Given the description of an element on the screen output the (x, y) to click on. 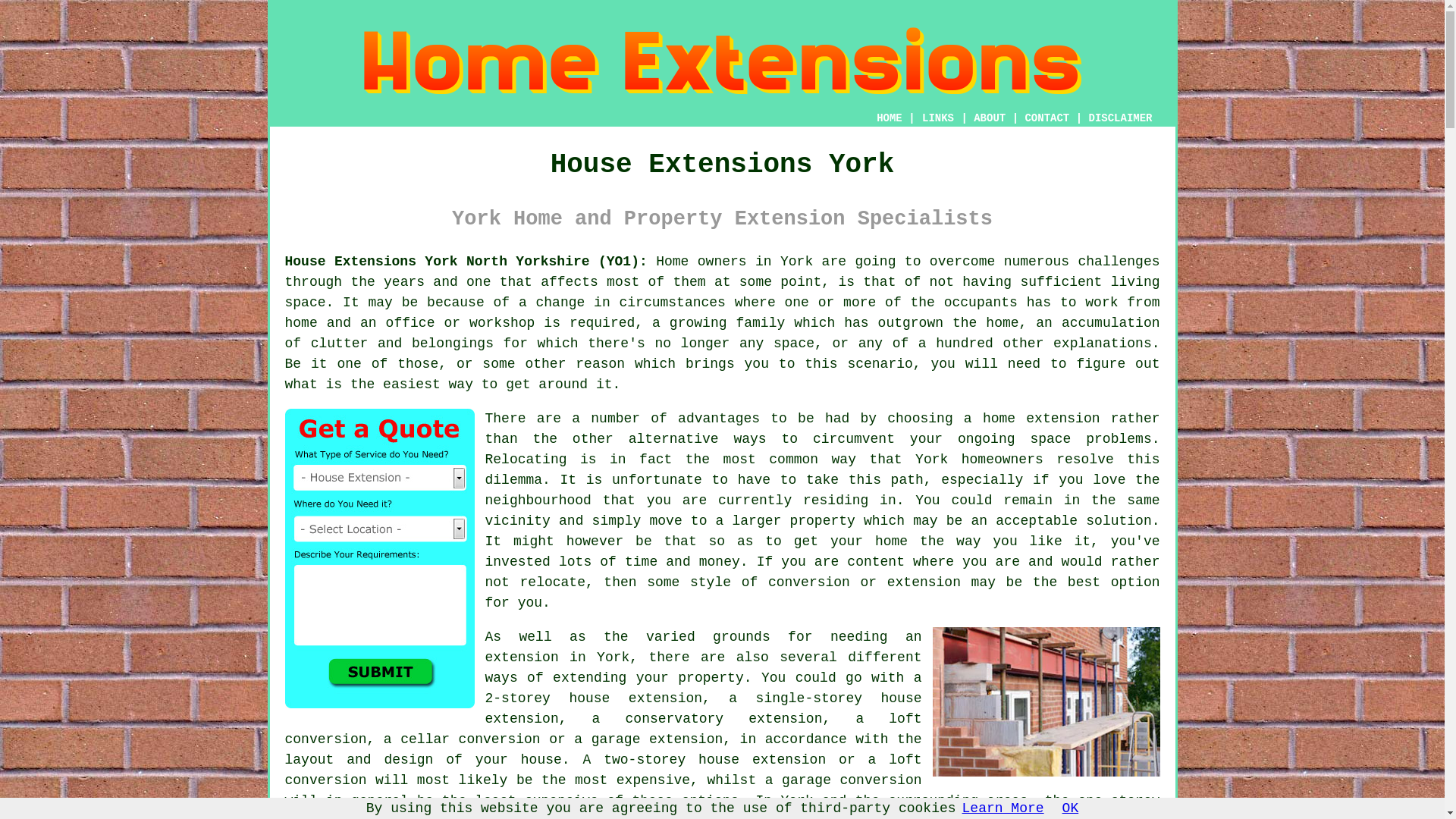
a garage conversion (843, 780)
HOME (889, 118)
House Extensions York North Yorkshire UK (466, 261)
House Extension Quotes (379, 558)
LINKS (938, 118)
home extension (1041, 418)
